Given the description of an element on the screen output the (x, y) to click on. 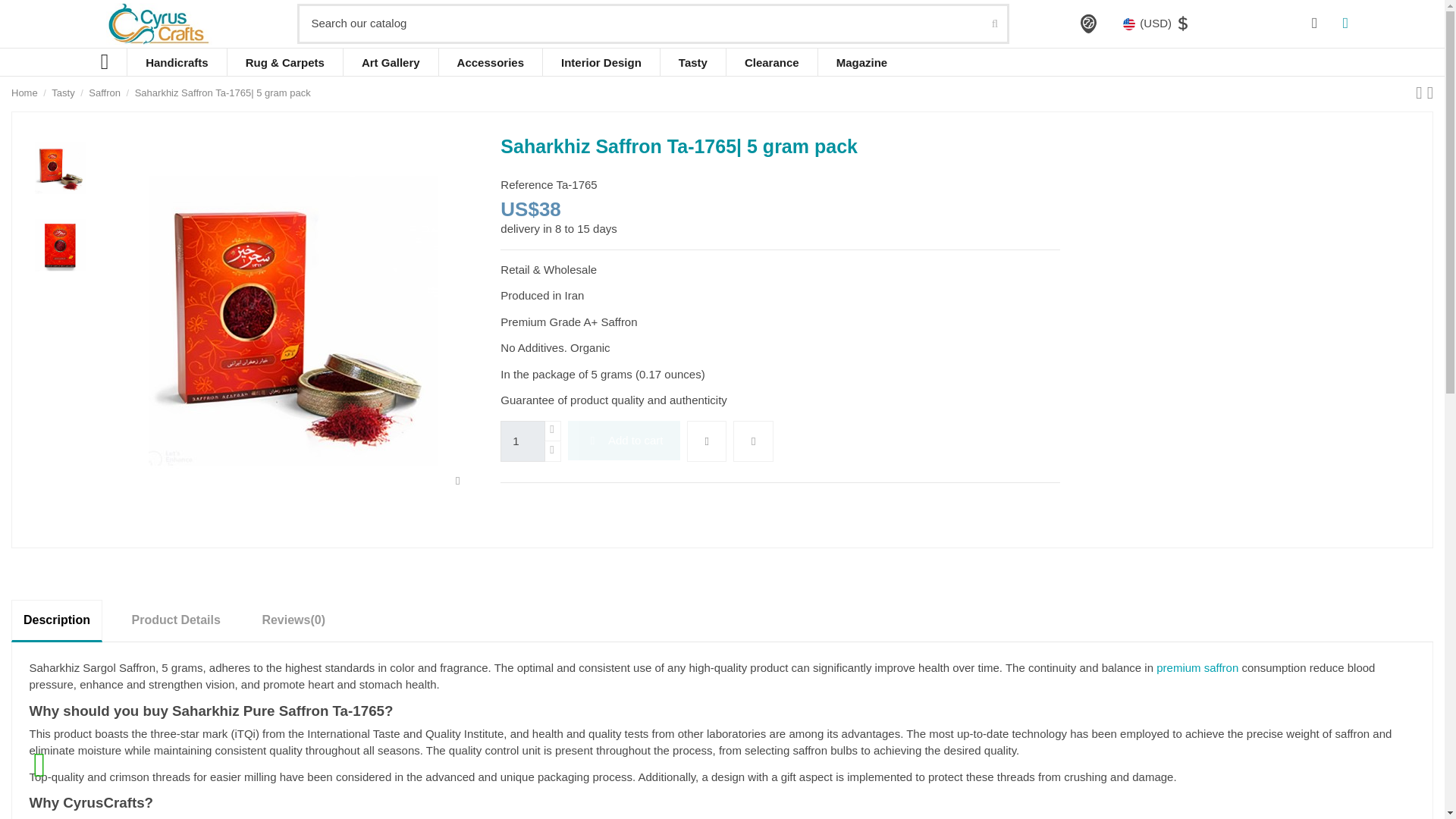
1 (522, 440)
Log in to your customer account (1314, 24)
Handicrafts (176, 62)
